Given the description of an element on the screen output the (x, y) to click on. 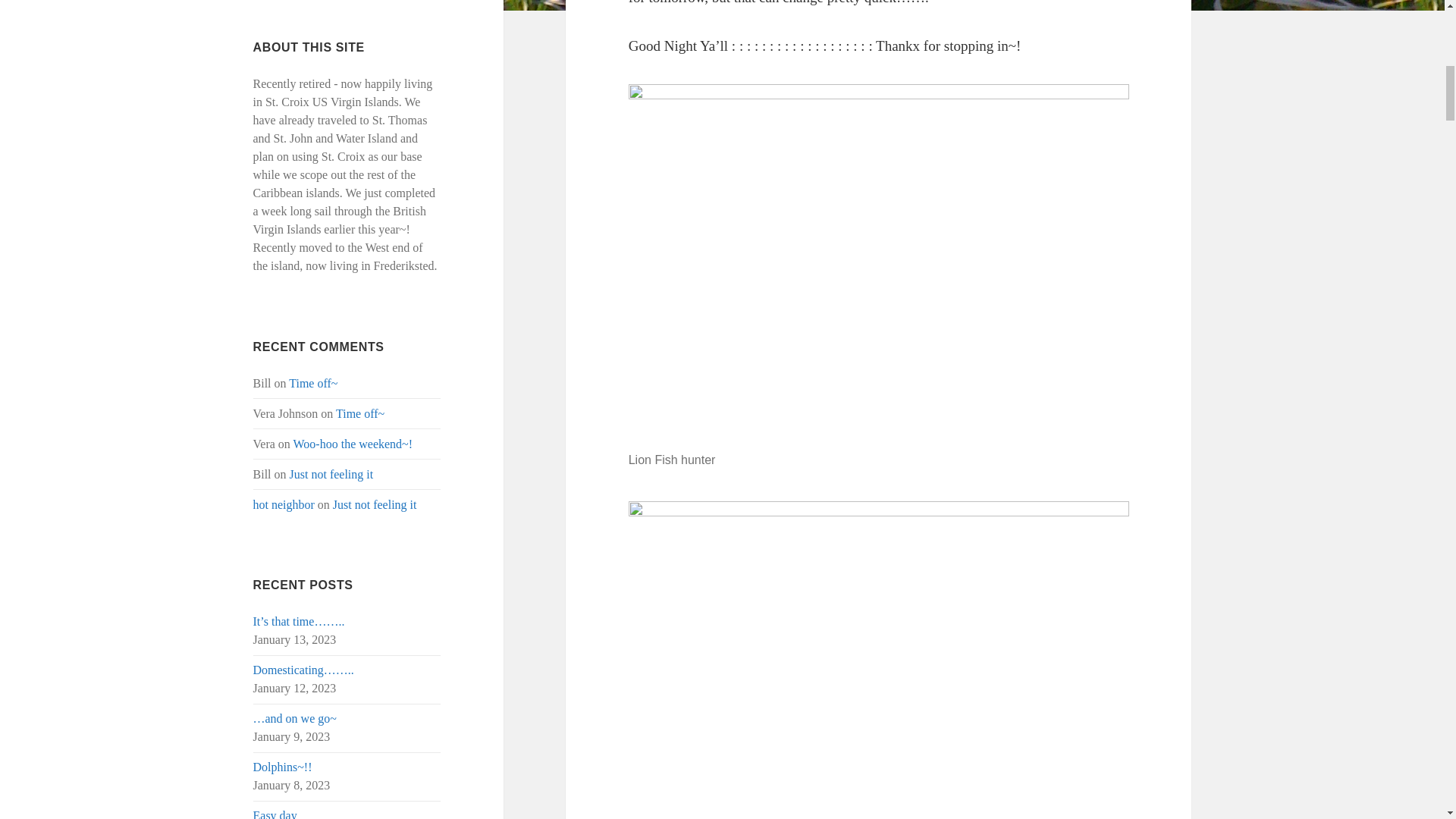
Just not feeling it (374, 504)
Just not feeling it (331, 473)
hot neighbor (283, 504)
Easy day (275, 814)
